Given the description of an element on the screen output the (x, y) to click on. 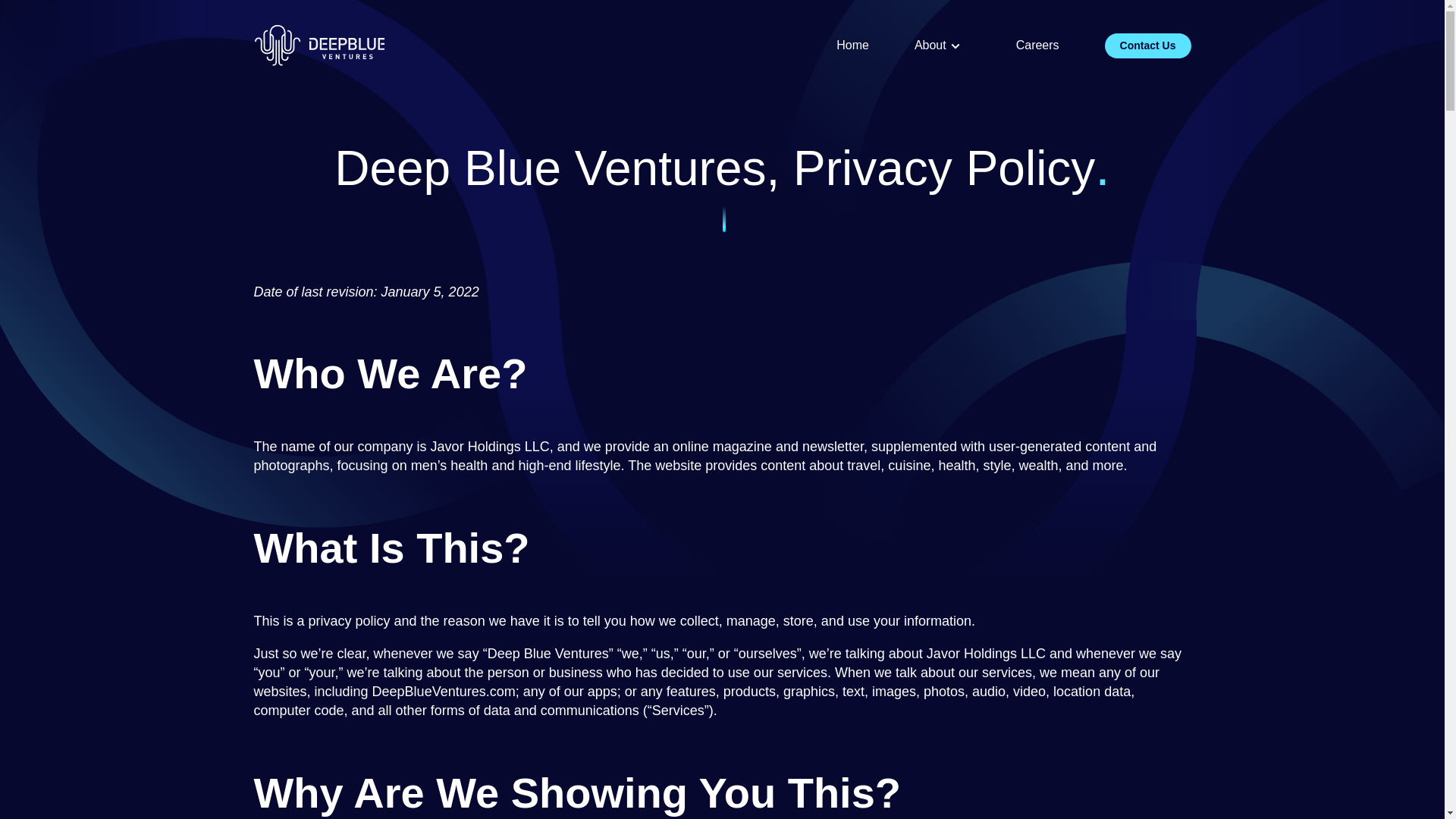
Careers (1037, 45)
About (942, 45)
Contact Us (1148, 45)
Home (852, 45)
